Given the description of an element on the screen output the (x, y) to click on. 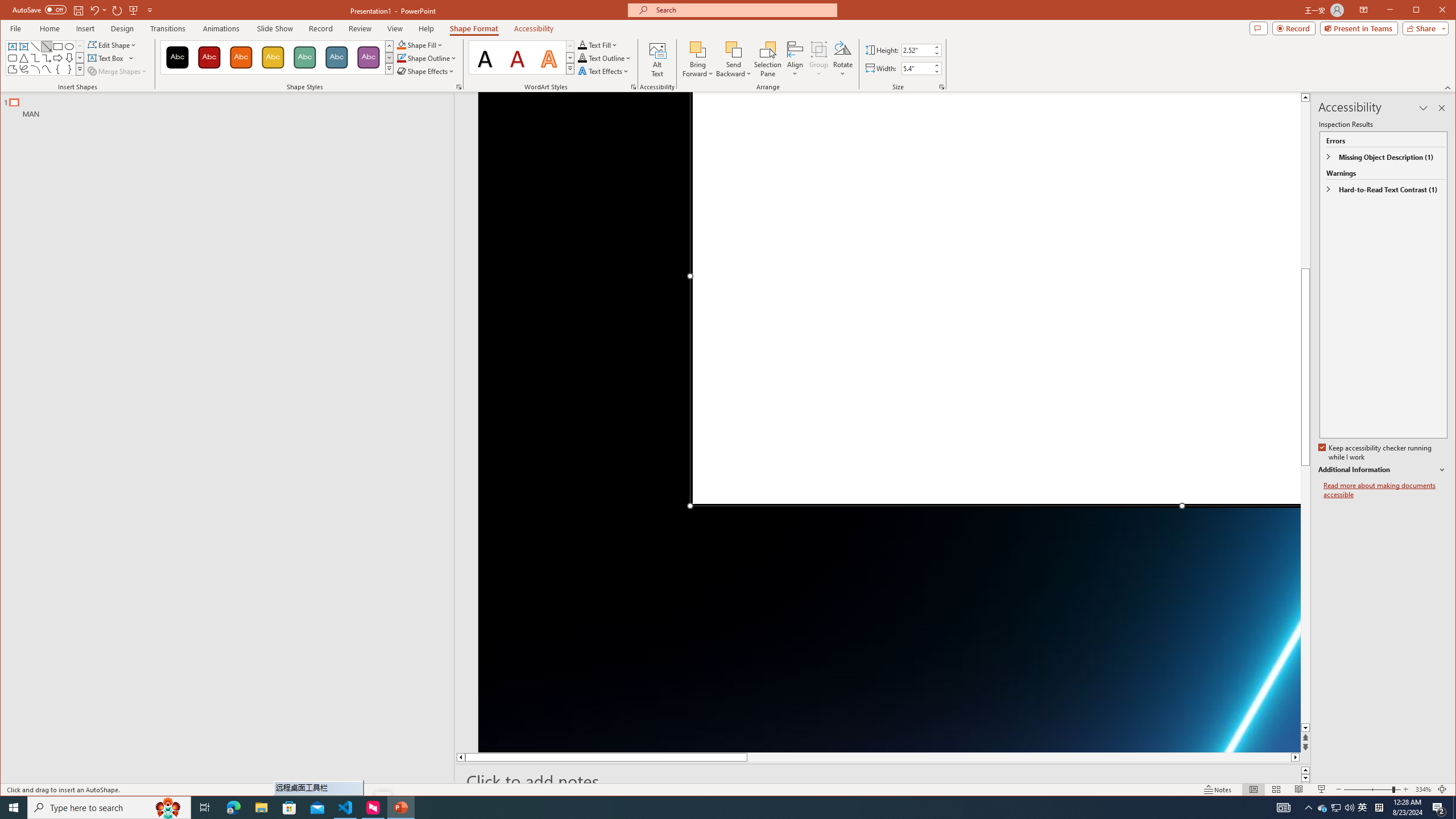
Freeform: Scribble (23, 69)
User Promoted Notification Area (1336, 807)
Task View (204, 807)
Text Fill RGB(0, 0, 0) (582, 44)
Text Outline (604, 57)
Quick Styles (570, 68)
Rectangle: Rounded Corners (12, 57)
AutomationID: ShapeStylesGallery (277, 57)
Draw Horizontal Text Box (106, 57)
Colored Fill - Orange, Accent 2 (241, 57)
